Given the description of an element on the screen output the (x, y) to click on. 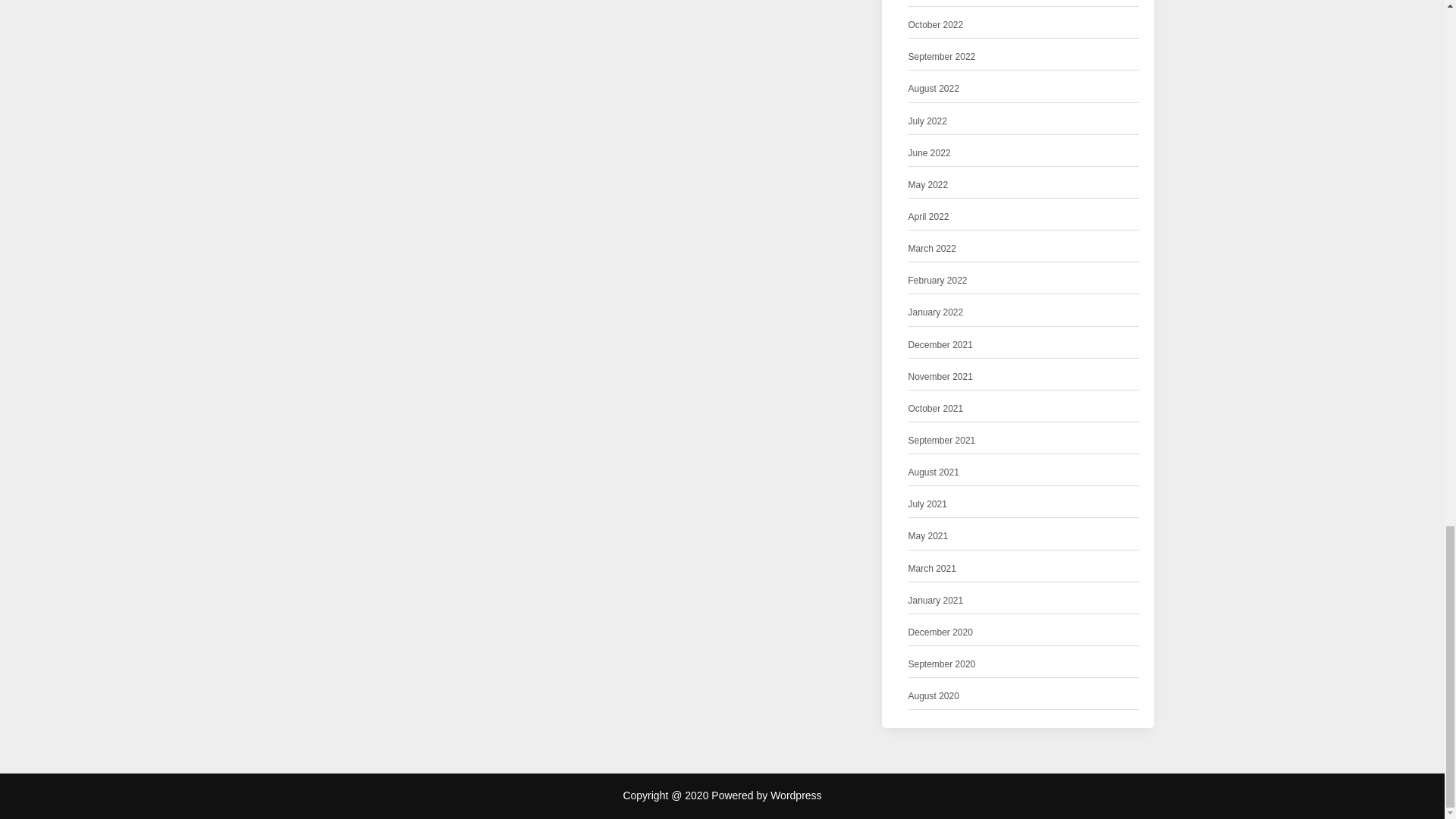
November 2022 (940, 0)
November 2021 (940, 376)
April 2022 (928, 217)
February 2022 (938, 280)
March 2022 (932, 248)
January 2022 (935, 312)
October 2022 (935, 25)
September 2021 (941, 440)
August 2022 (933, 89)
September 2022 (941, 57)
